Given the description of an element on the screen output the (x, y) to click on. 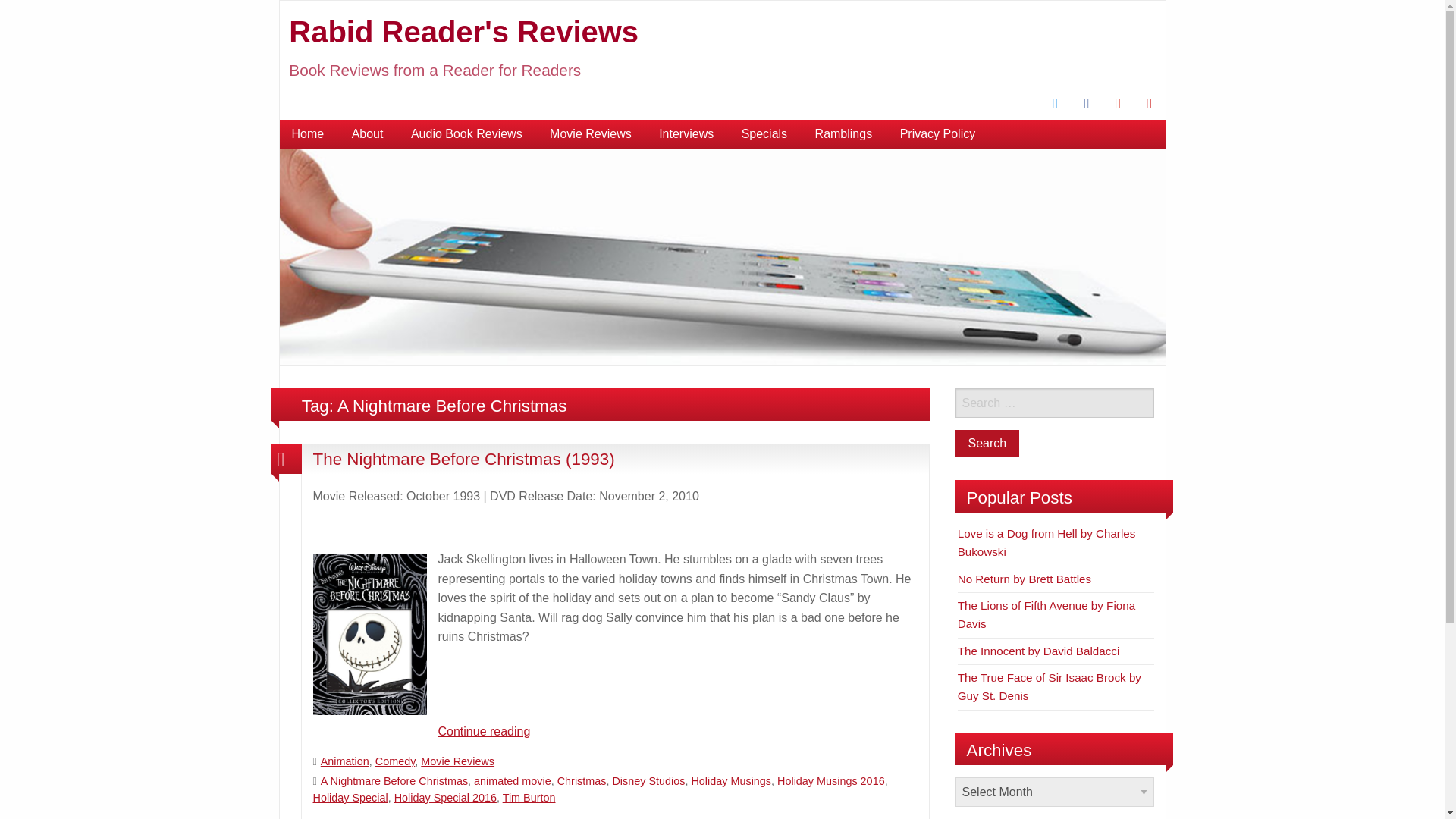
Movie Reviews (590, 133)
Search (987, 443)
Interviews (685, 133)
Ramblings (844, 133)
Facebook (1087, 103)
YouTube (1148, 103)
Twitter (1055, 103)
About (367, 133)
Privacy Policy (938, 133)
Rabid Reader's Reviews (463, 31)
